Given the description of an element on the screen output the (x, y) to click on. 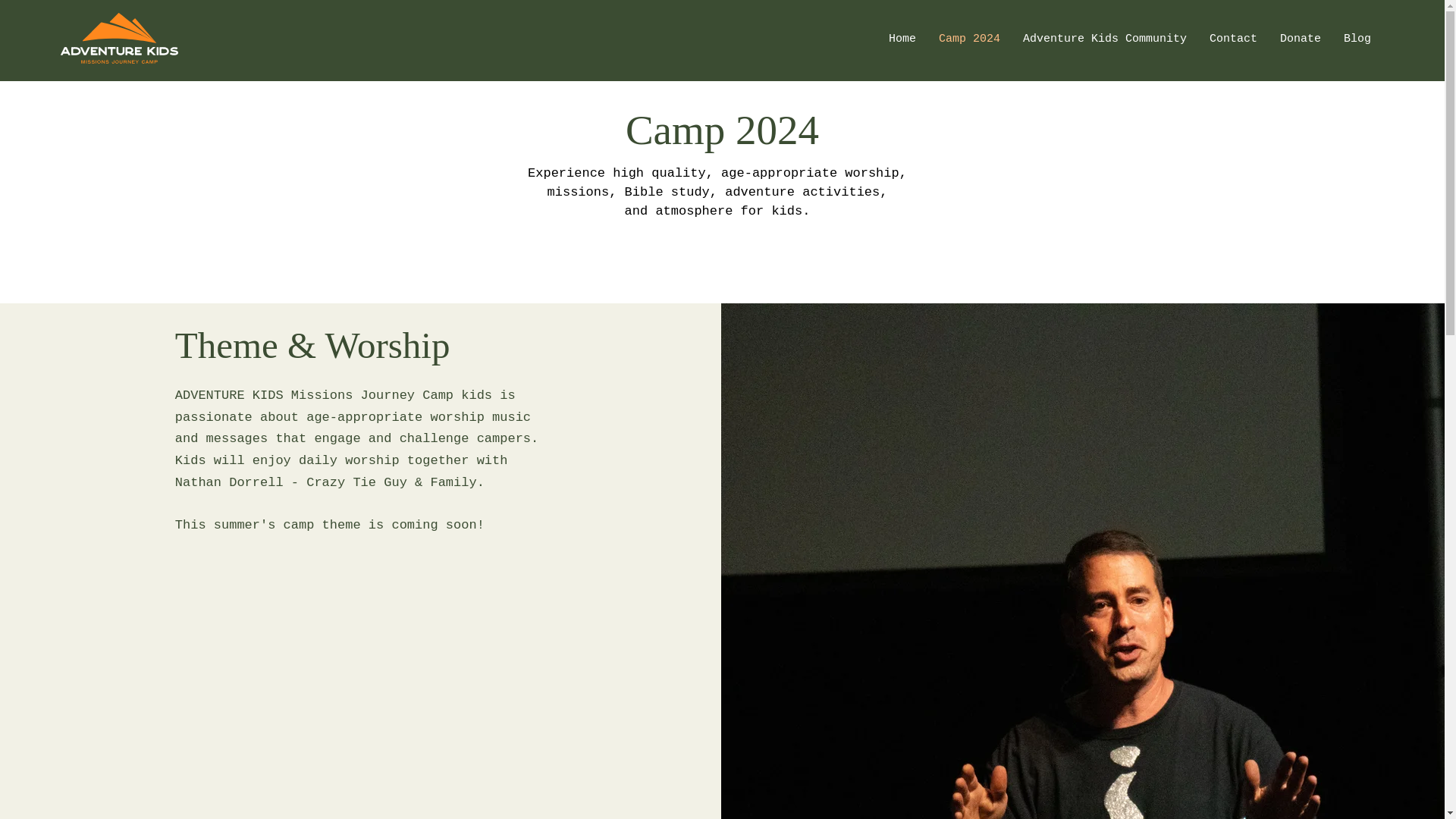
Blog (1356, 39)
Home (902, 39)
Camp 2024 (969, 39)
Contact (1233, 39)
Adventure Kids Community (1104, 39)
Donate (1300, 39)
